Given the description of an element on the screen output the (x, y) to click on. 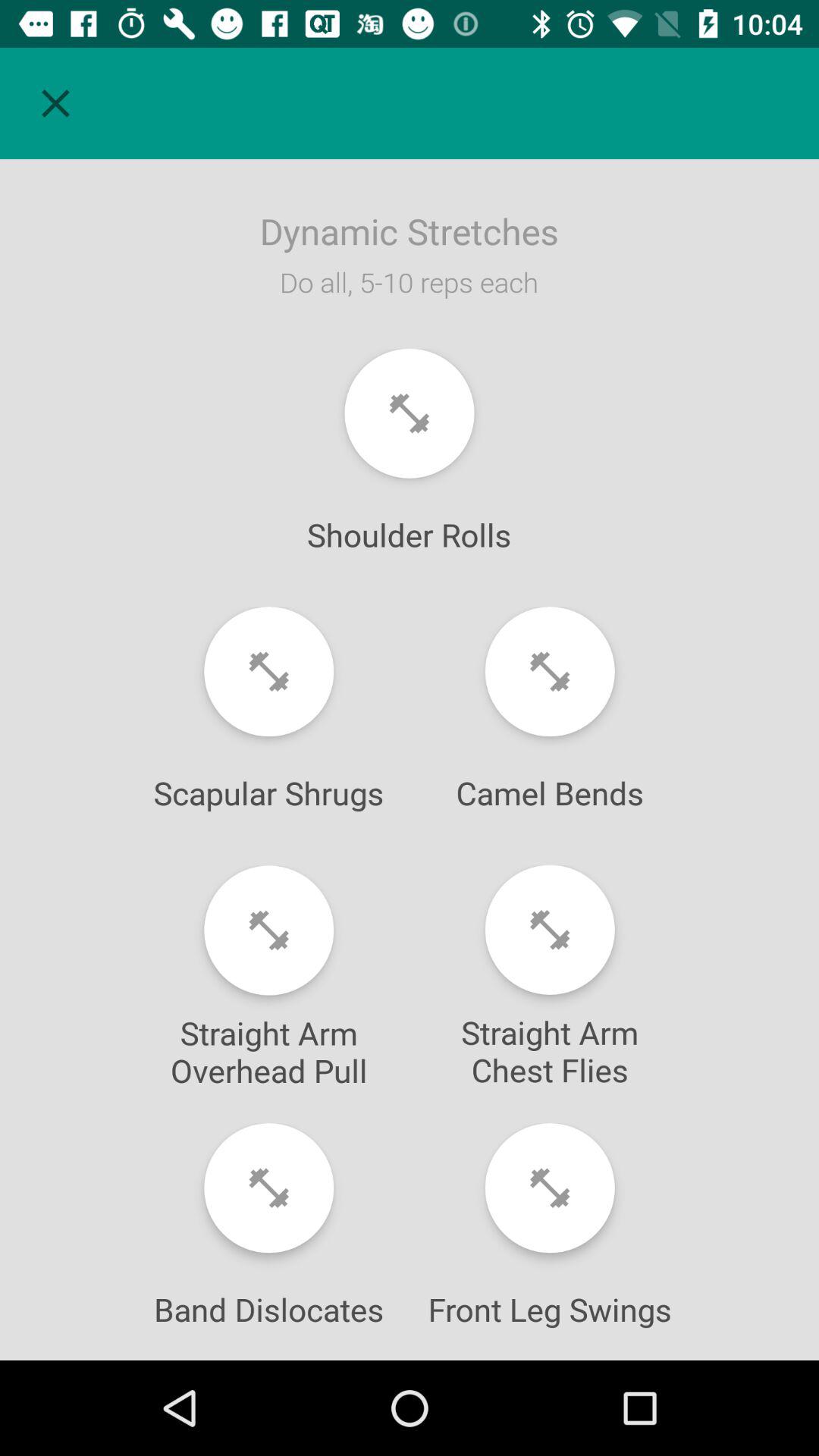
shoulder rolls (409, 413)
